Given the description of an element on the screen output the (x, y) to click on. 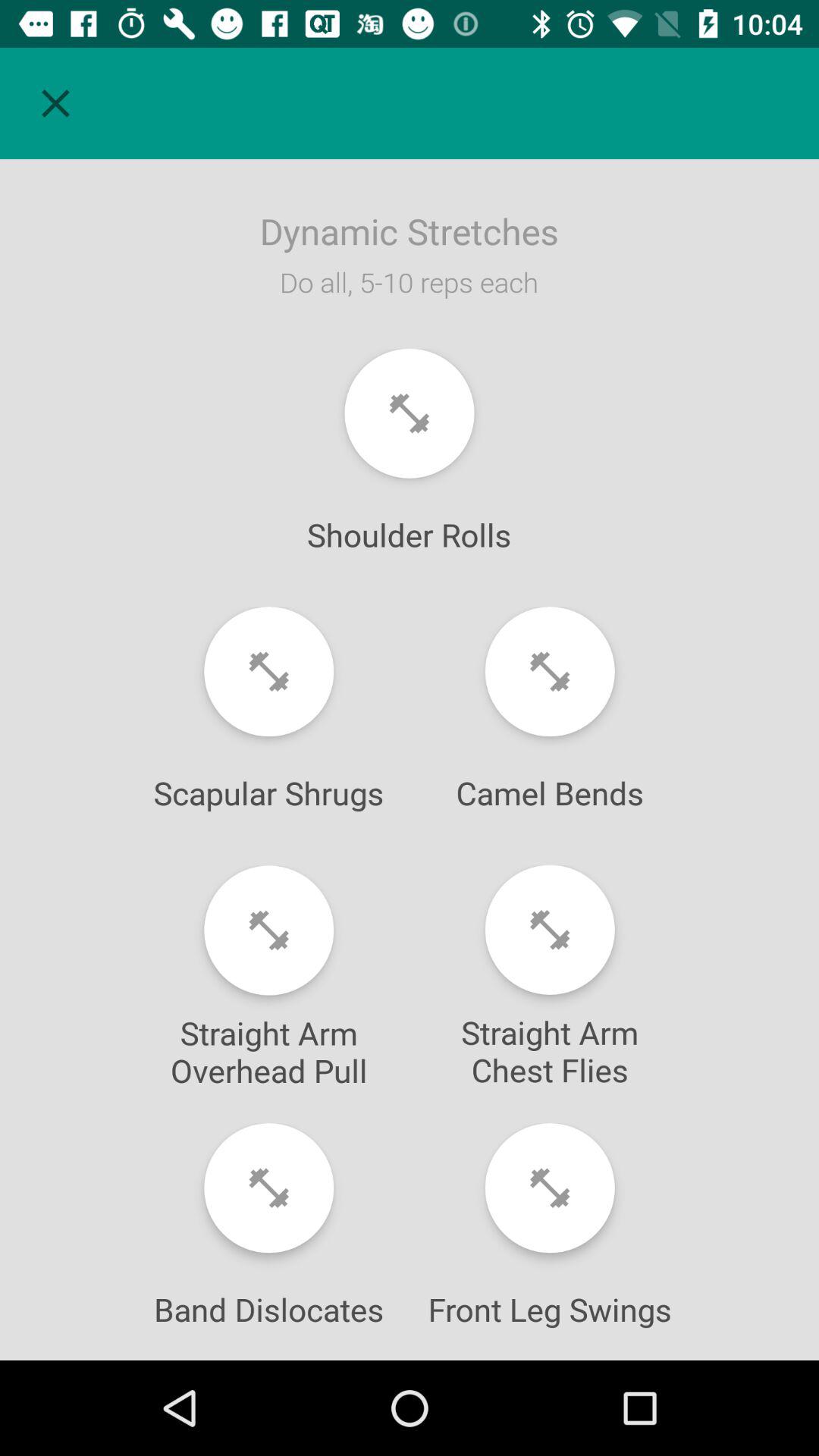
shoulder rolls (409, 413)
